Given the description of an element on the screen output the (x, y) to click on. 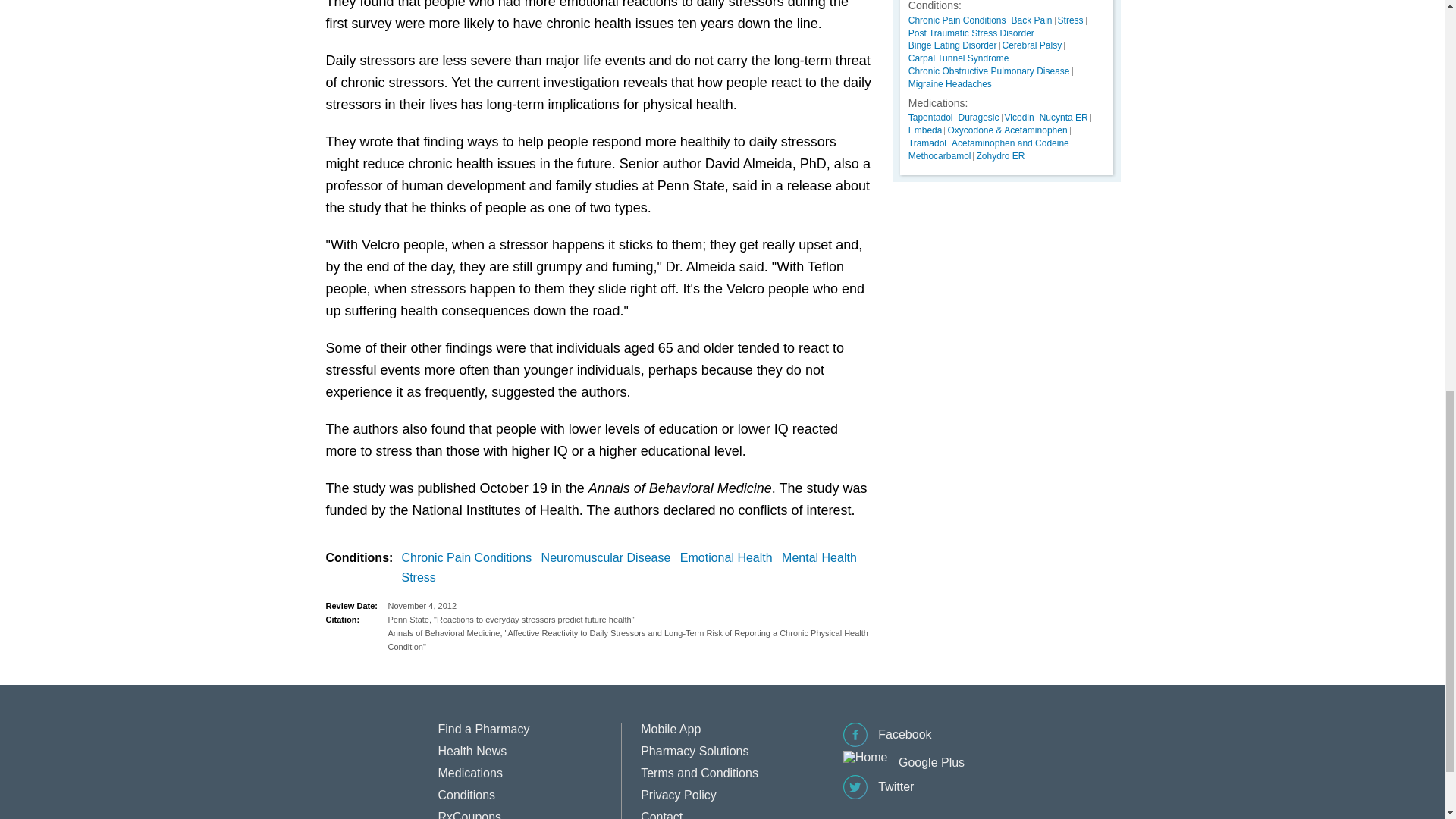
Neuromuscular Disease (609, 557)
Mental Health (822, 557)
Stress (421, 578)
Chronic Pain Conditions (469, 557)
Emotional Health (728, 557)
